Given the description of an element on the screen output the (x, y) to click on. 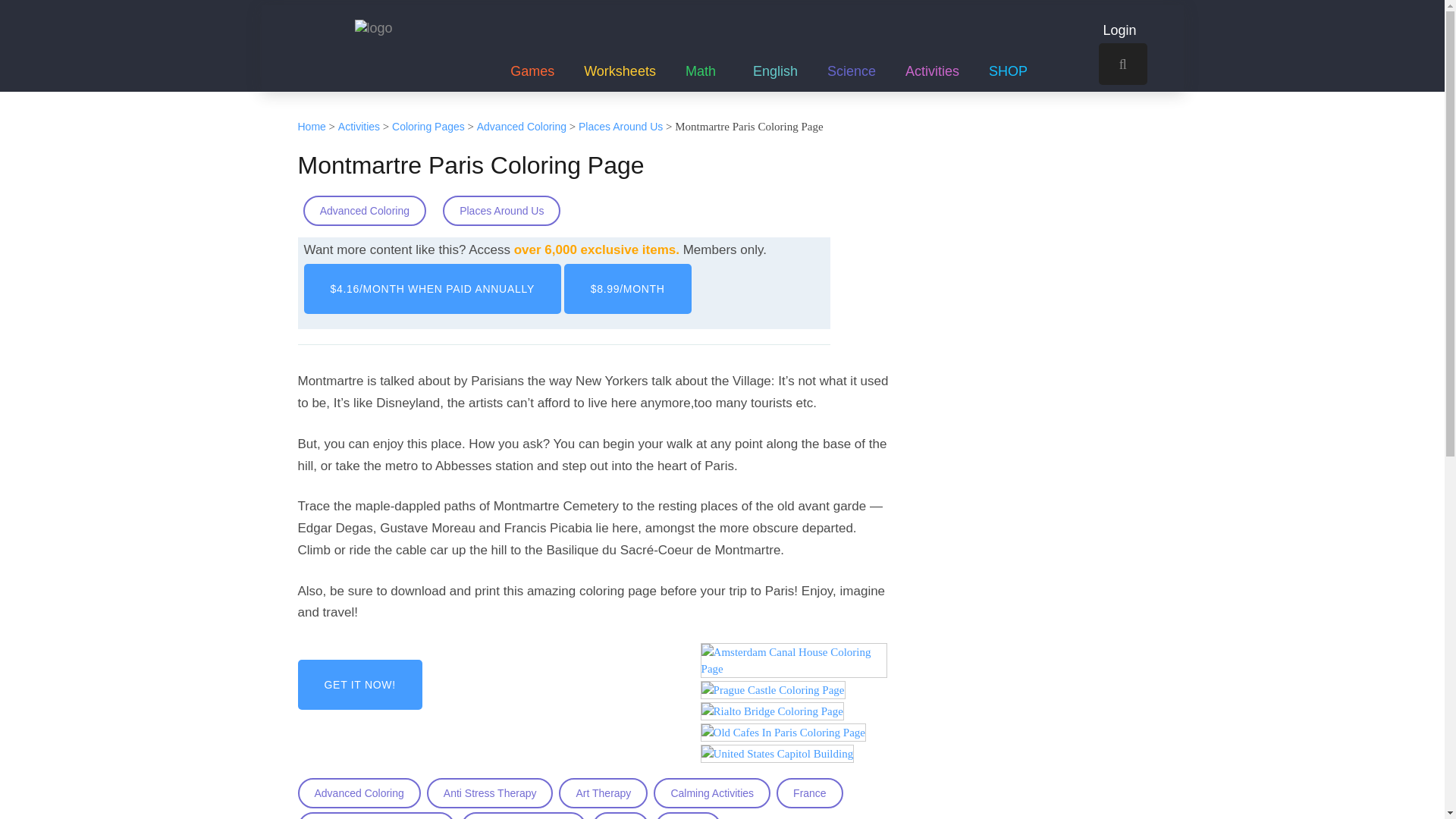
Worksheets (620, 47)
Games (532, 47)
